Given the description of an element on the screen output the (x, y) to click on. 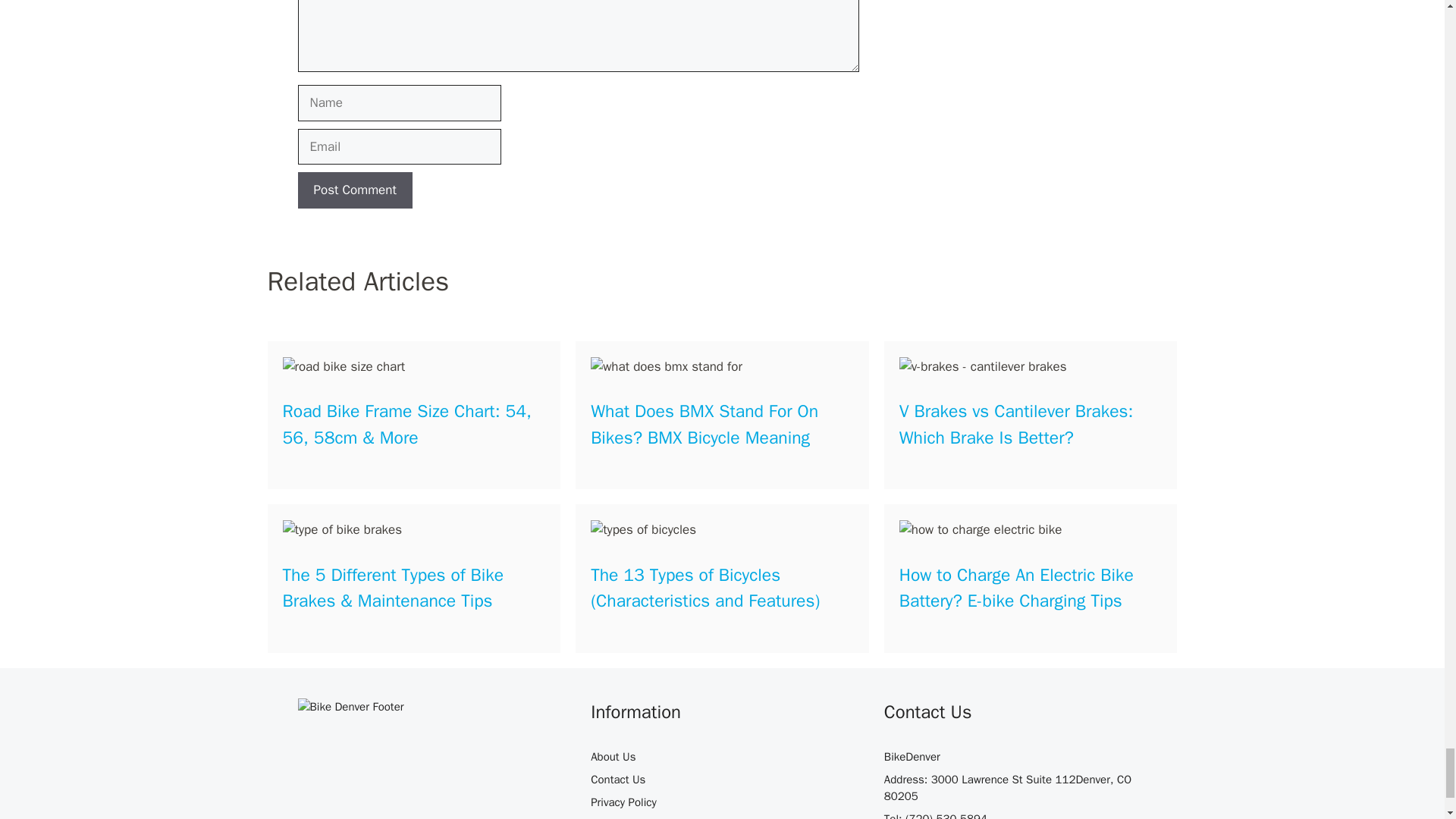
V Brakes vs Cantilever Brakes: Which Brake Is Better? (1016, 424)
Post Comment (354, 189)
Post Comment (354, 189)
What Does BMX Stand For On Bikes? BMX Bicycle Meaning (704, 424)
